Given the description of an element on the screen output the (x, y) to click on. 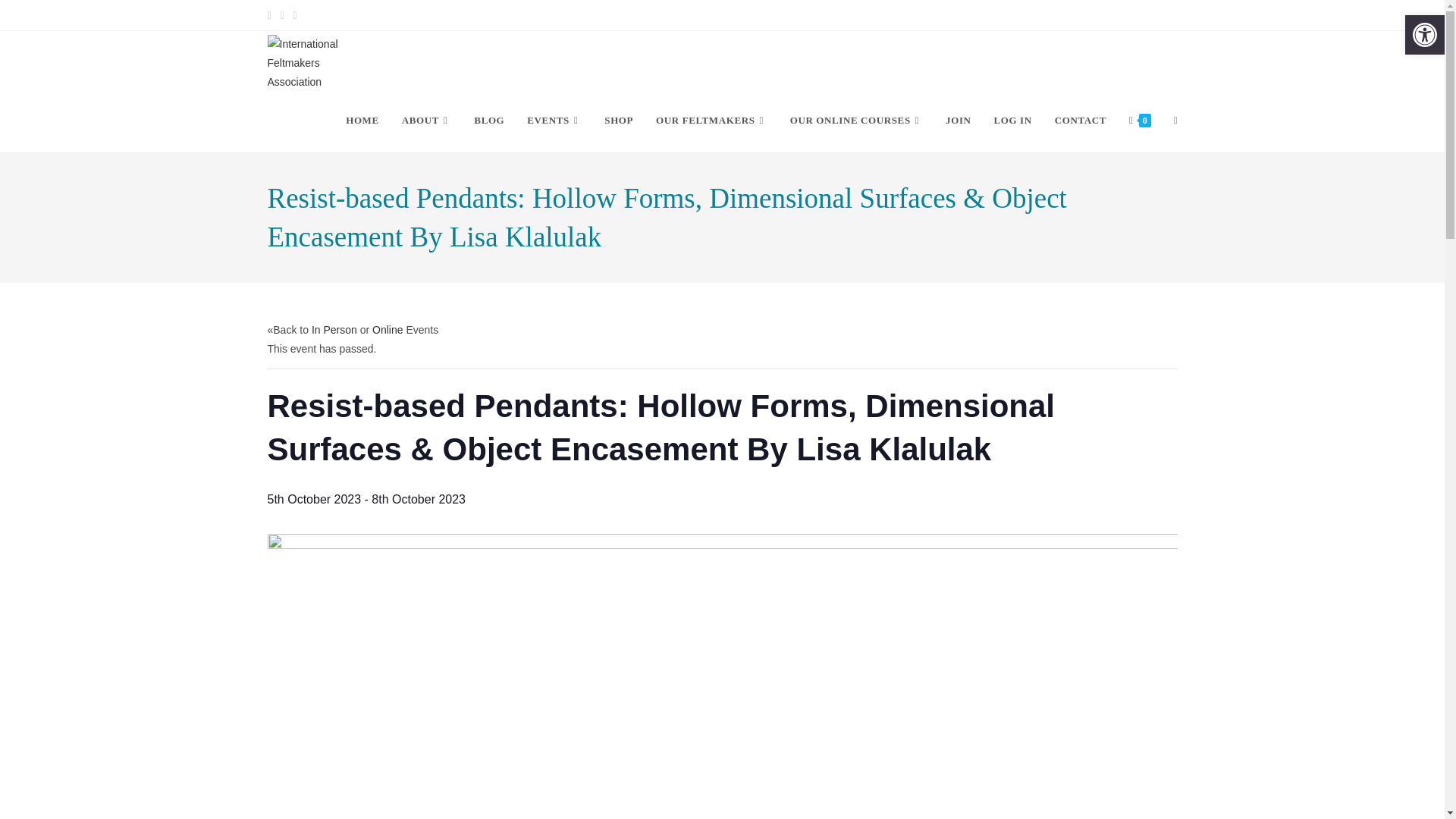
EVENTS (553, 120)
BLOG (489, 120)
OUR FELTMAKERS (711, 120)
ABOUT (426, 120)
SHOP (618, 120)
Accessibility Tools (1424, 34)
OUR ONLINE COURSES (856, 120)
HOME (362, 120)
